Given the description of an element on the screen output the (x, y) to click on. 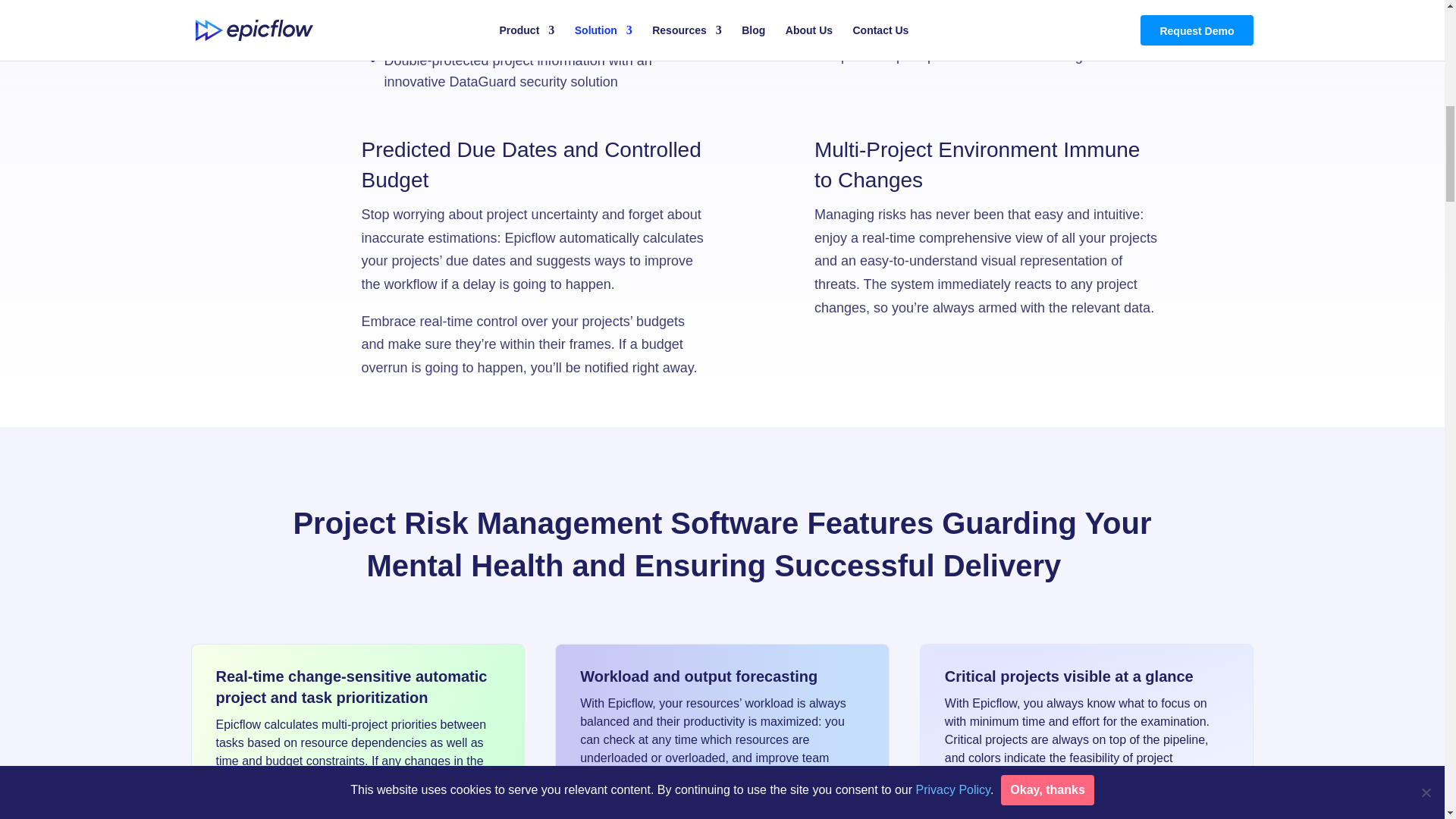
image 66 (721, 809)
